Given the description of an element on the screen output the (x, y) to click on. 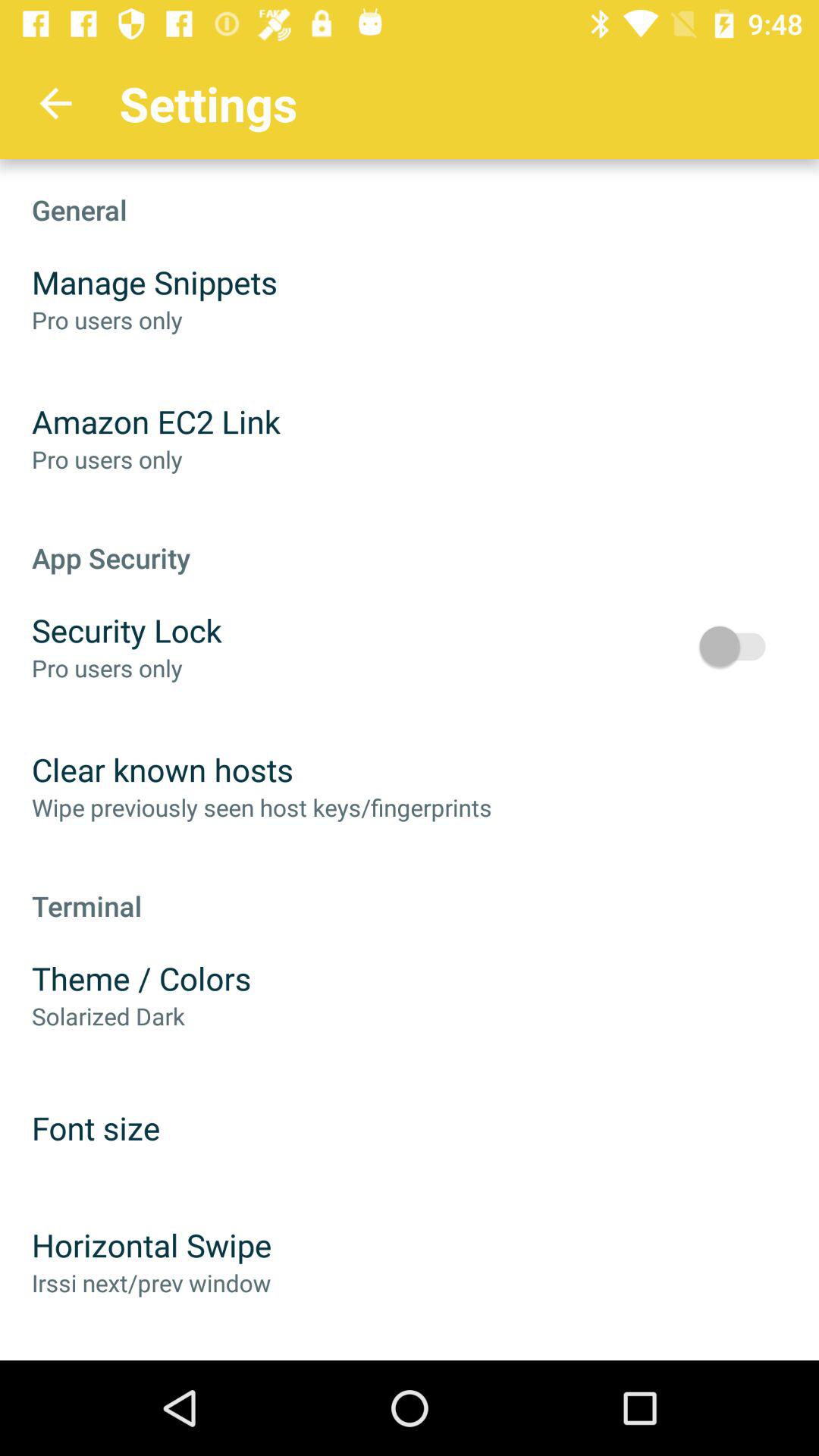
click wipe previously seen (261, 807)
